Given the description of an element on the screen output the (x, y) to click on. 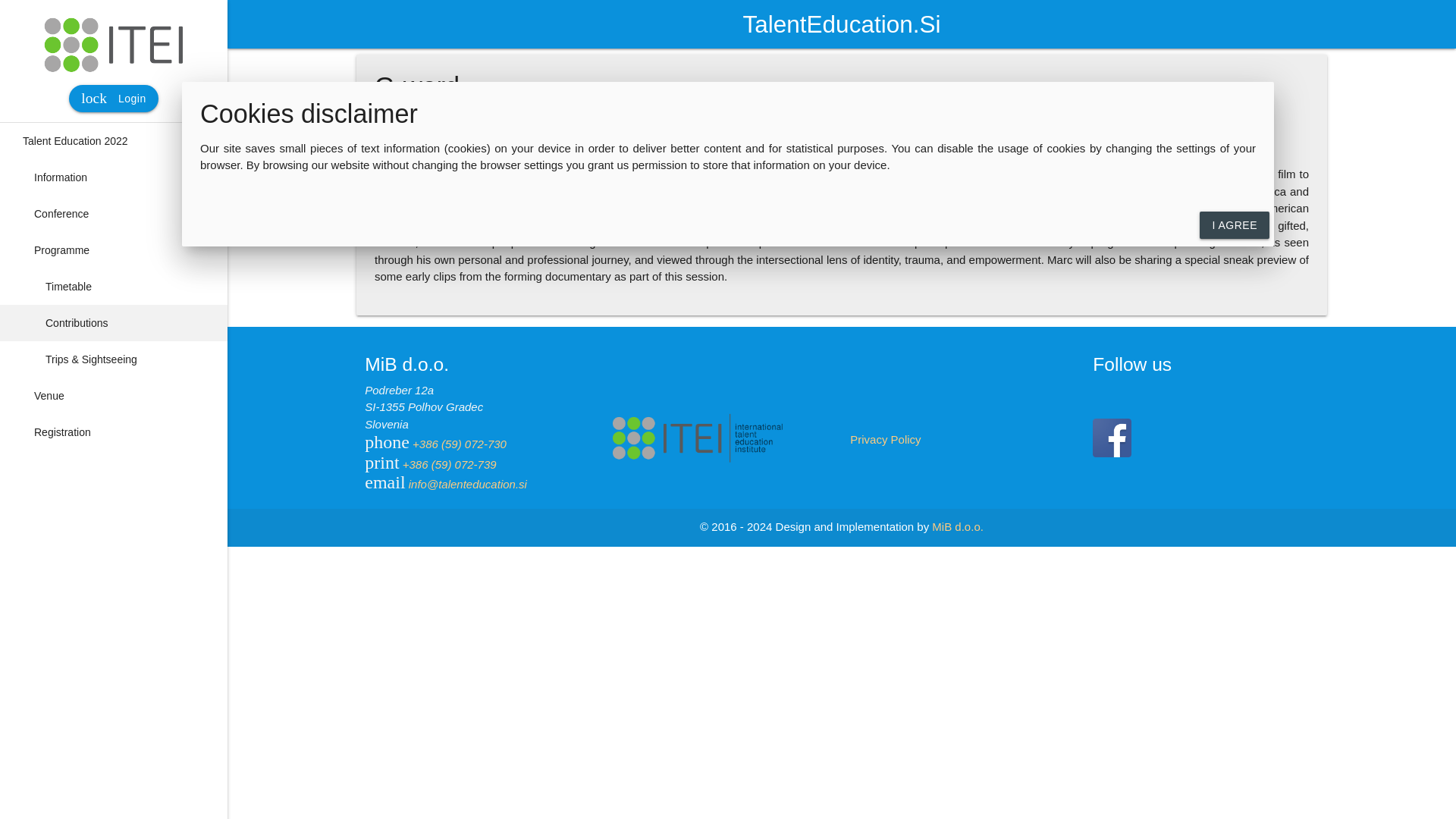
Privacy Policy (885, 439)
Contributions (113, 322)
Timetable (112, 98)
Venue (113, 286)
MiB d.o.o. (113, 395)
Registration (957, 526)
Programme (113, 432)
I AGREE (113, 249)
Marc Smolowitz (1234, 225)
